Given the description of an element on the screen output the (x, y) to click on. 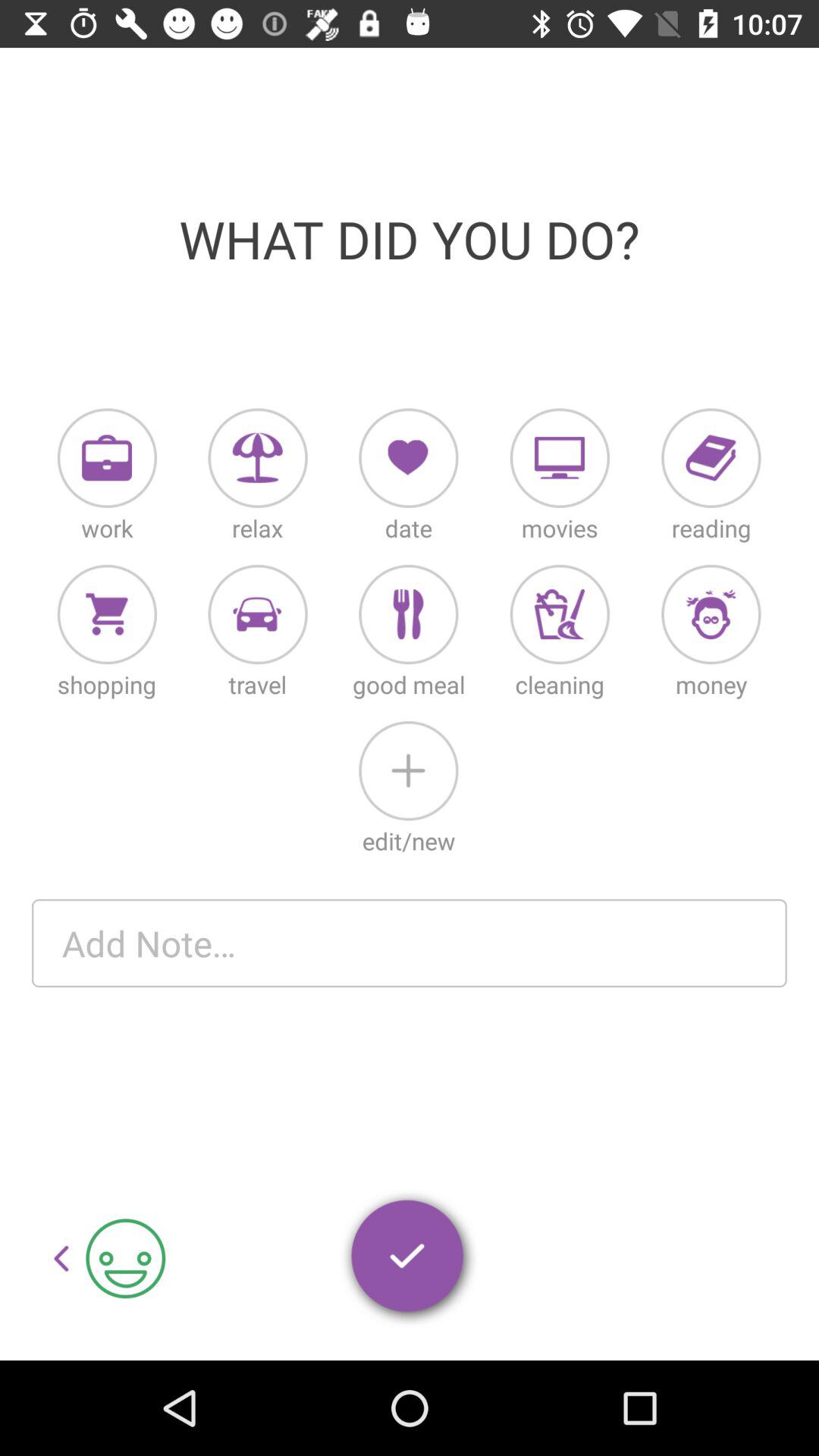
add cleaning entry to diary (559, 614)
